Given the description of an element on the screen output the (x, y) to click on. 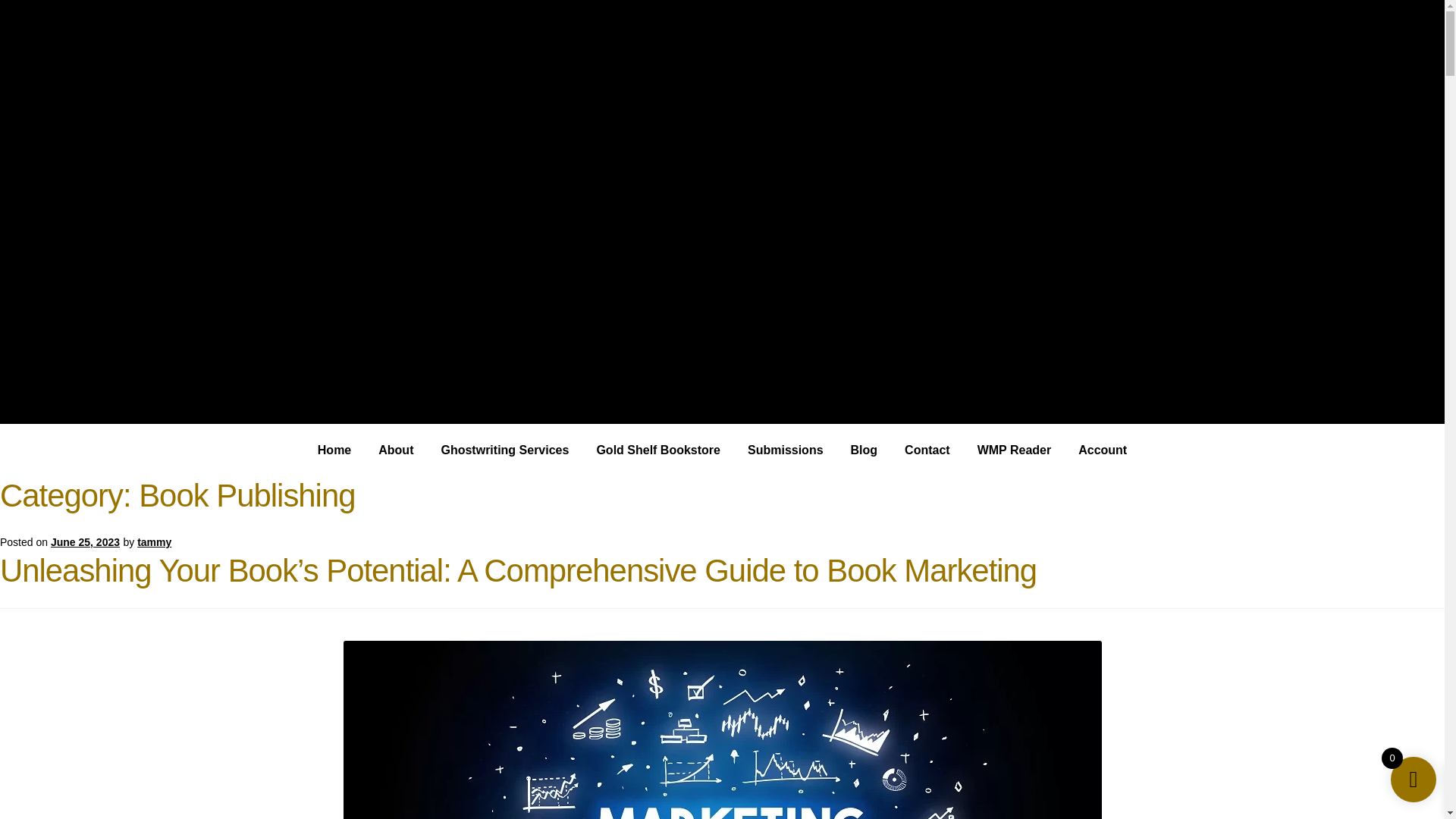
Submissions (785, 450)
About (395, 450)
Contact (927, 450)
Ghostwriting Services (504, 450)
Home (334, 450)
Blog (864, 450)
Gold Shelf Bookstore (657, 450)
